Given the description of an element on the screen output the (x, y) to click on. 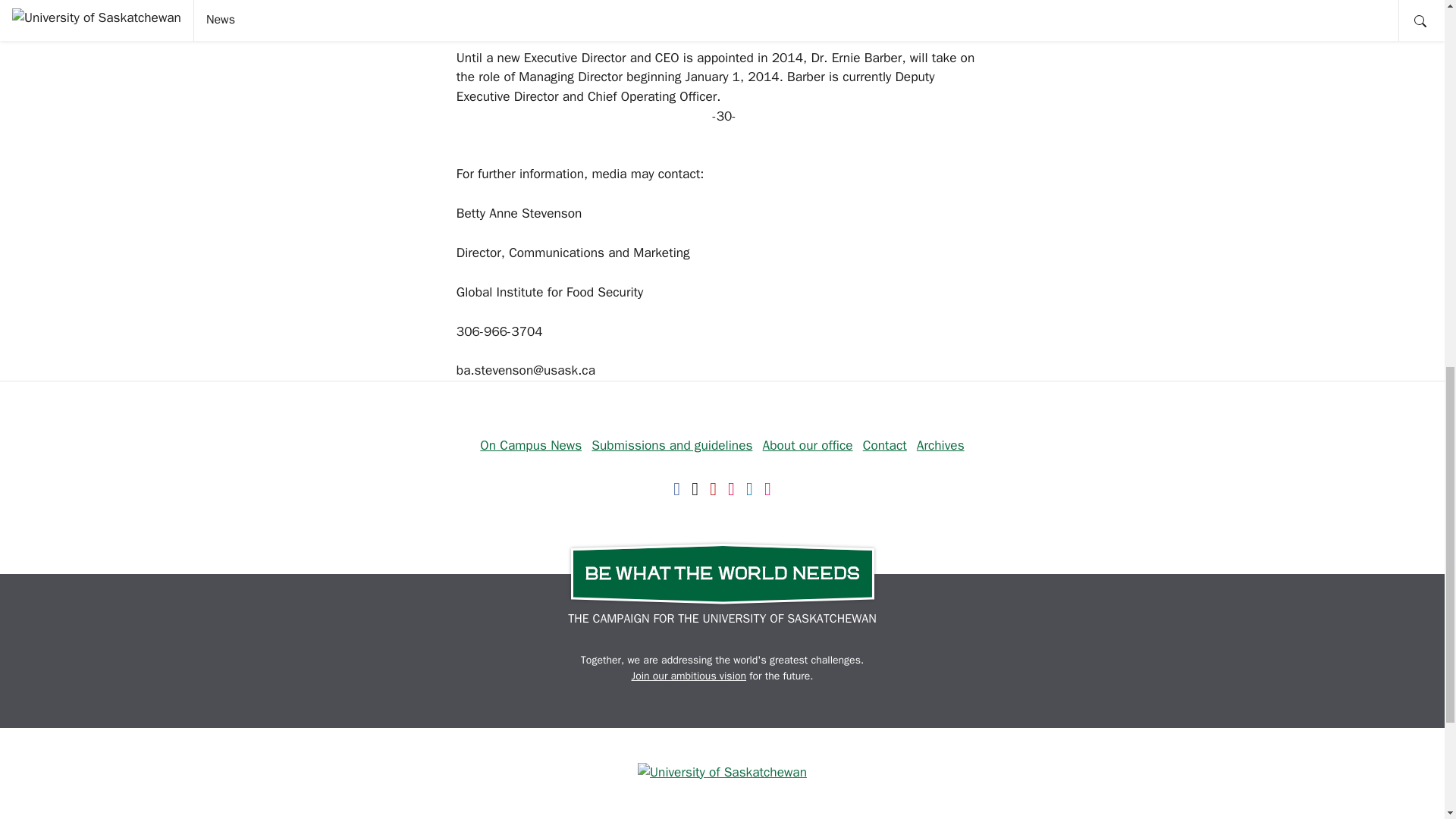
On Campus News (530, 444)
Submissions and guidelines (671, 444)
Contact (885, 444)
Archives (940, 444)
Join our ambitious vision (688, 675)
About our office (807, 444)
